Given the description of an element on the screen output the (x, y) to click on. 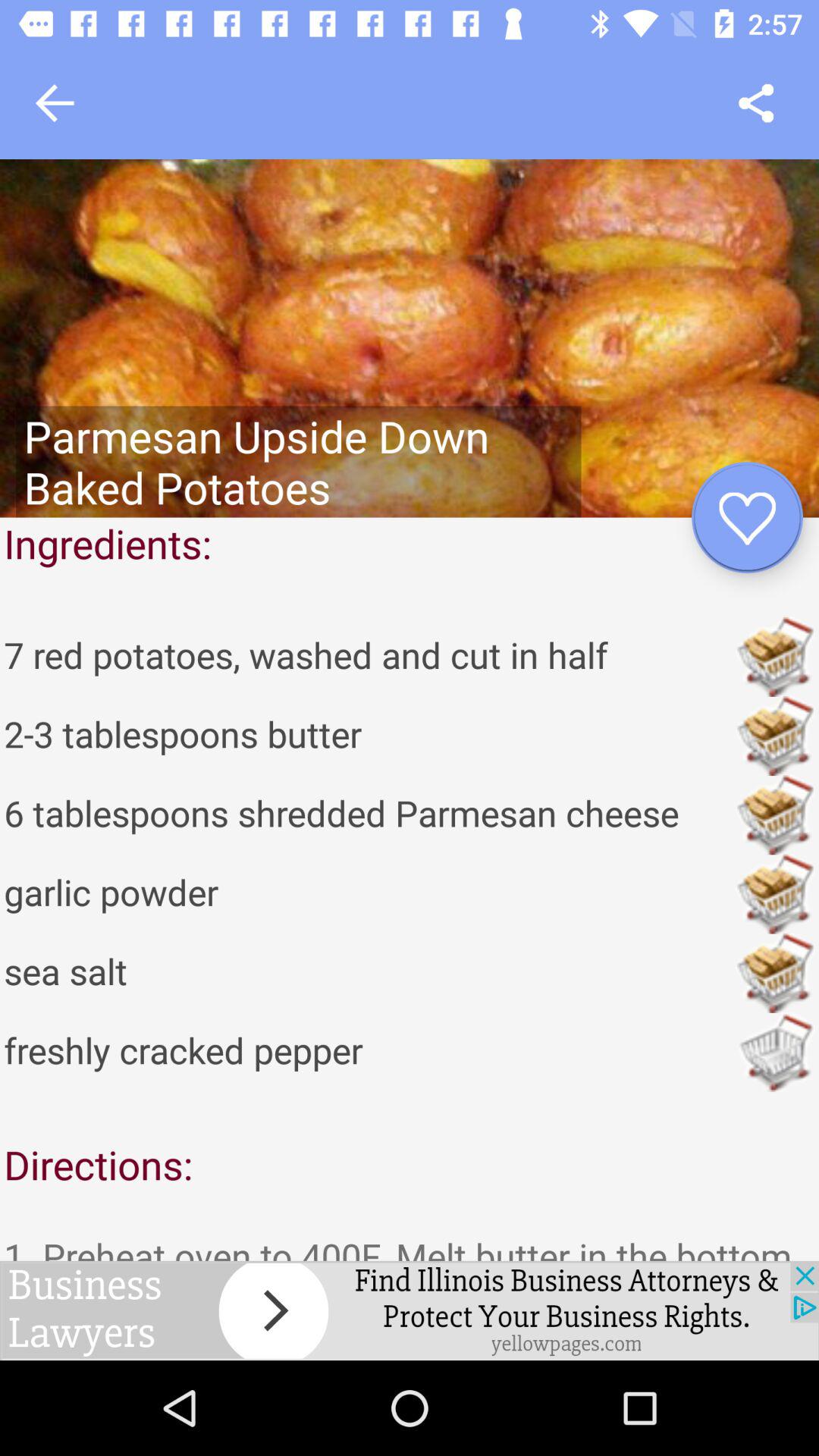
like button (747, 517)
